Given the description of an element on the screen output the (x, y) to click on. 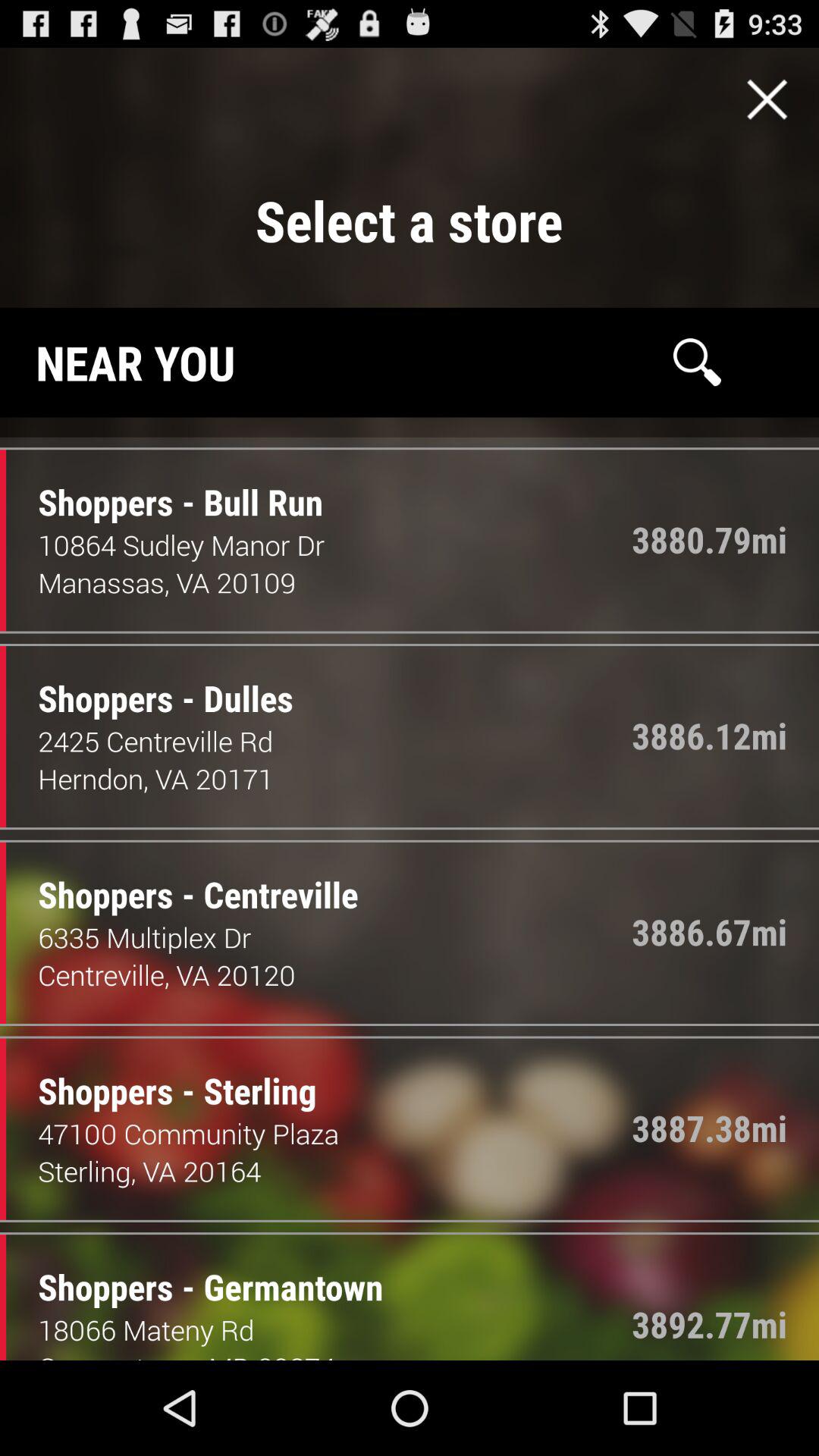
tap the item above 6335 multiplex dr (186, 879)
